Given the description of an element on the screen output the (x, y) to click on. 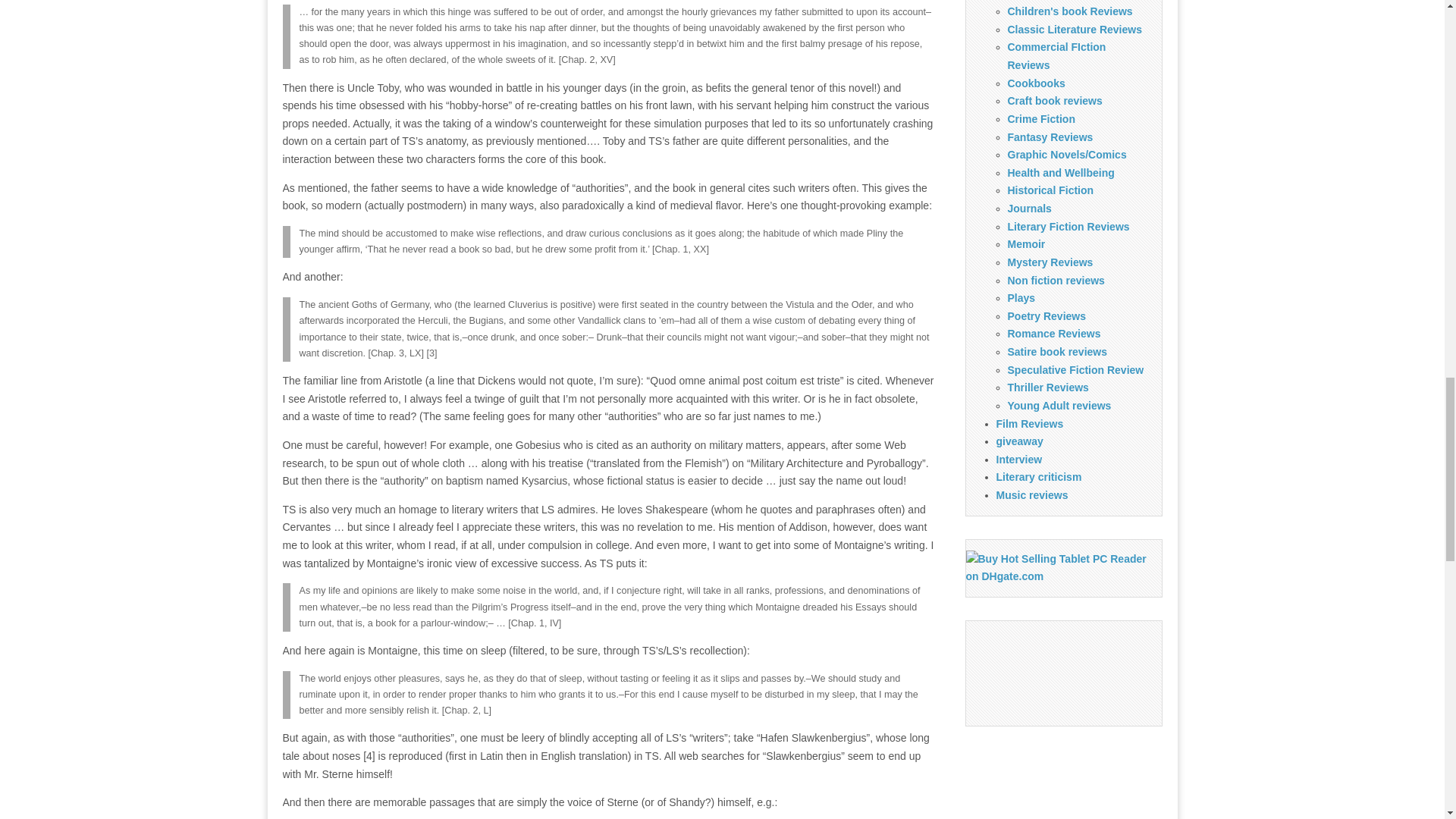
Crime Fiction (1040, 119)
Fantasy Reviews (1050, 137)
Cookbooks (1035, 82)
Craft book reviews (1054, 101)
Children's book Reviews (1069, 10)
Health and Wellbeing (1060, 173)
Classic Literature Reviews (1074, 29)
Commercial FIction Reviews (1056, 55)
